Given the description of an element on the screen output the (x, y) to click on. 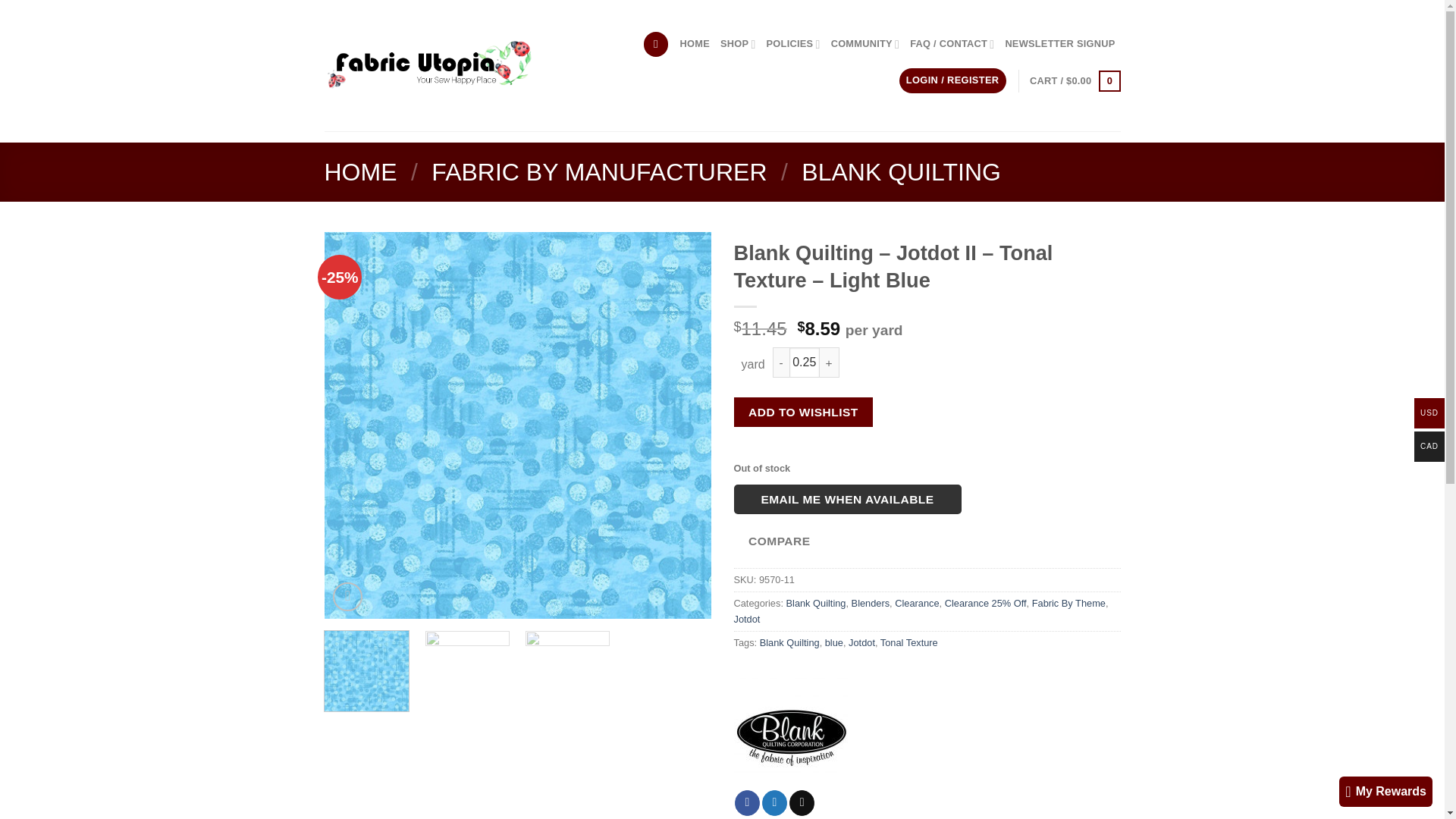
Email to a Friend (801, 802)
0.25 (804, 362)
ADD TO WISHLIST (803, 411)
Share on Twitter (774, 802)
HOME (360, 171)
POLICIES (794, 43)
NEWSLETTER SIGNUP (1059, 43)
Zoom (347, 596)
Blank Quilting (790, 733)
Share on Facebook (747, 802)
